Given the description of an element on the screen output the (x, y) to click on. 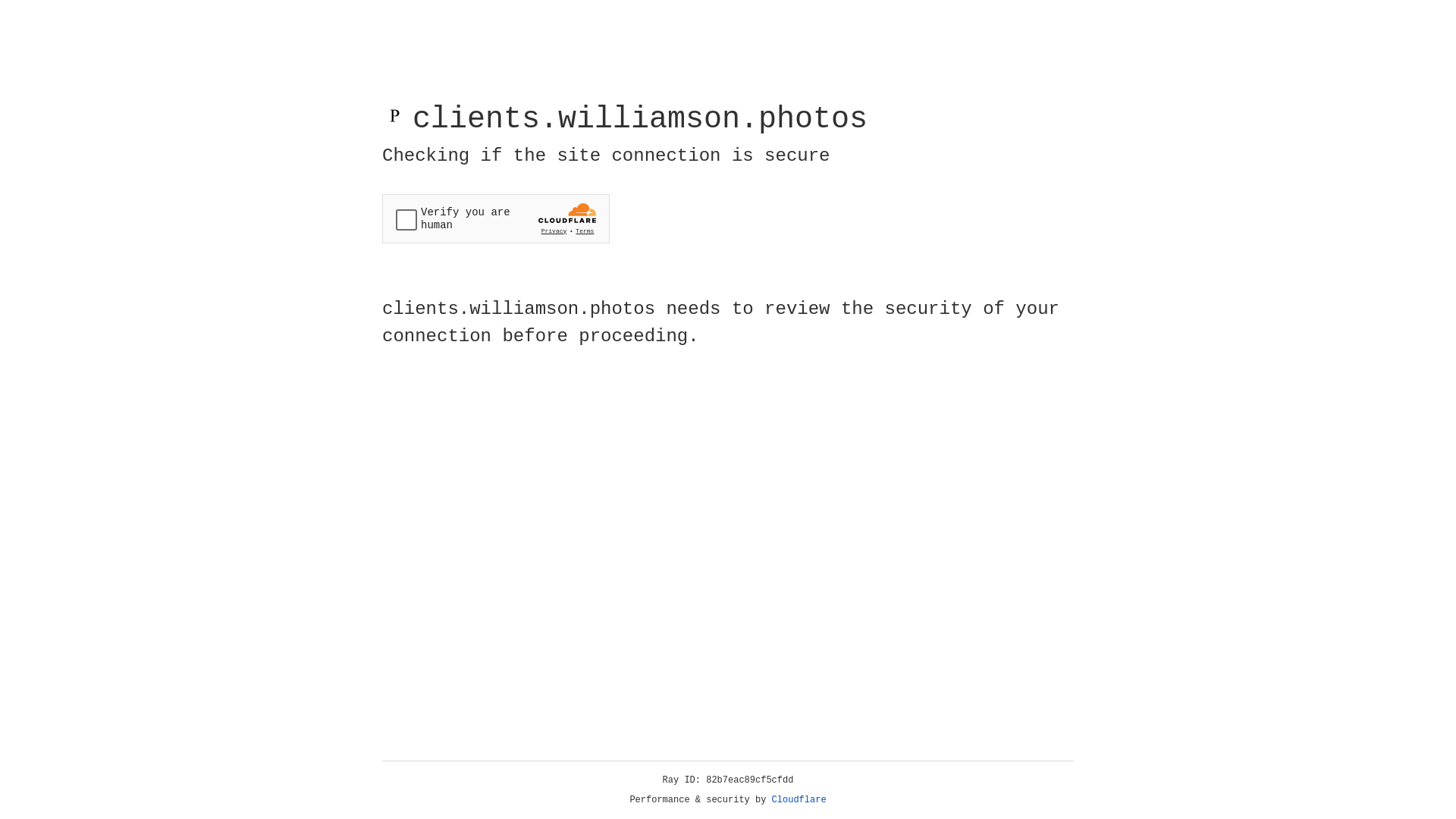
Widget containing a Cloudflare security challenge Element type: hover (495, 218)
Cloudflare Element type: text (798, 799)
